Given the description of an element on the screen output the (x, y) to click on. 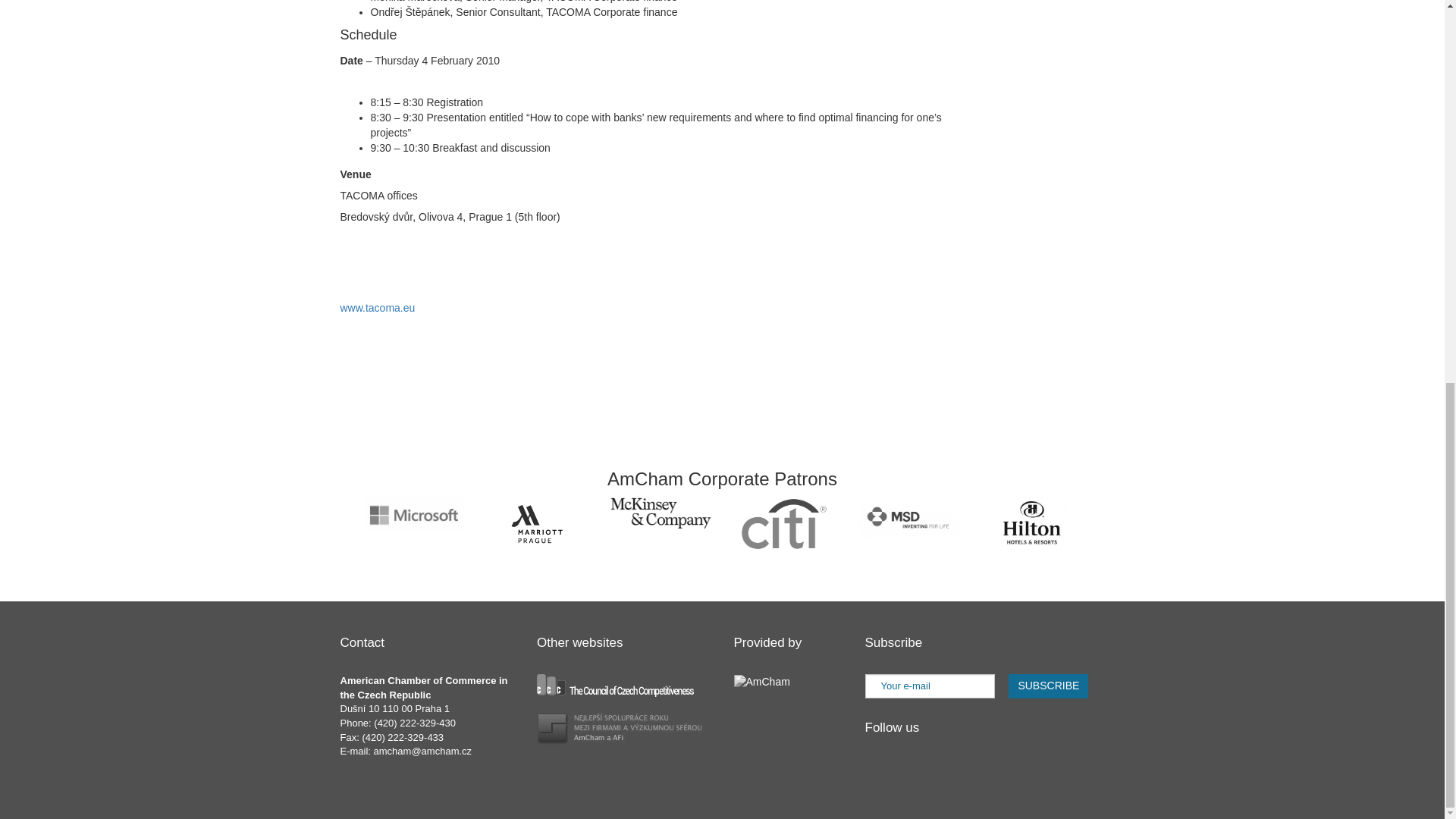
www.tacoma.eu (376, 307)
Flickr (962, 771)
YouTube (933, 771)
Twitter (905, 771)
Sign in (577, 307)
Linkedin (876, 771)
SUBSCRIBE (1048, 686)
